Given the description of an element on the screen output the (x, y) to click on. 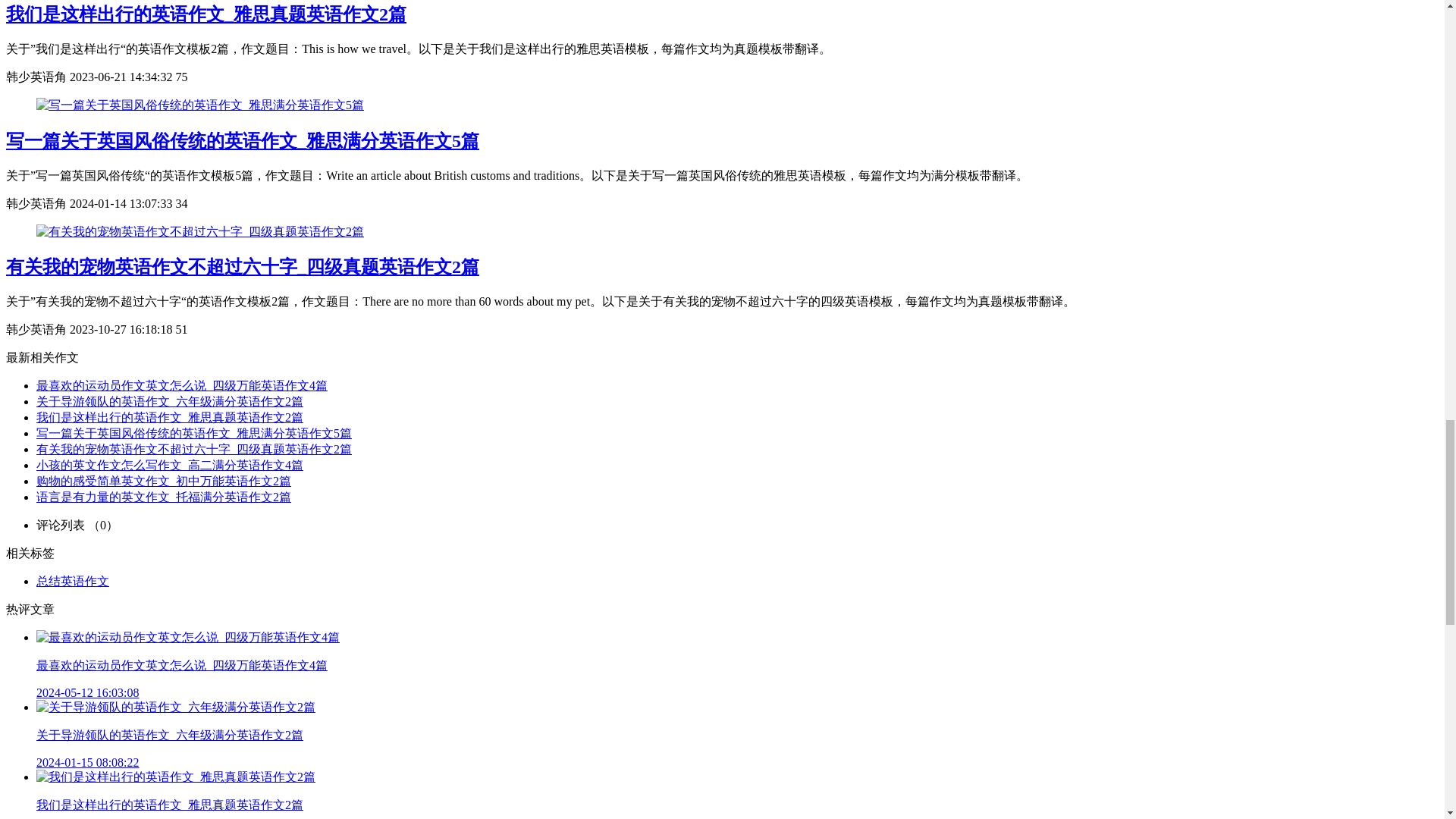
2023-06-21 14:34:32 (122, 76)
2024-01-14 13:07:33 (122, 203)
